Given the description of an element on the screen output the (x, y) to click on. 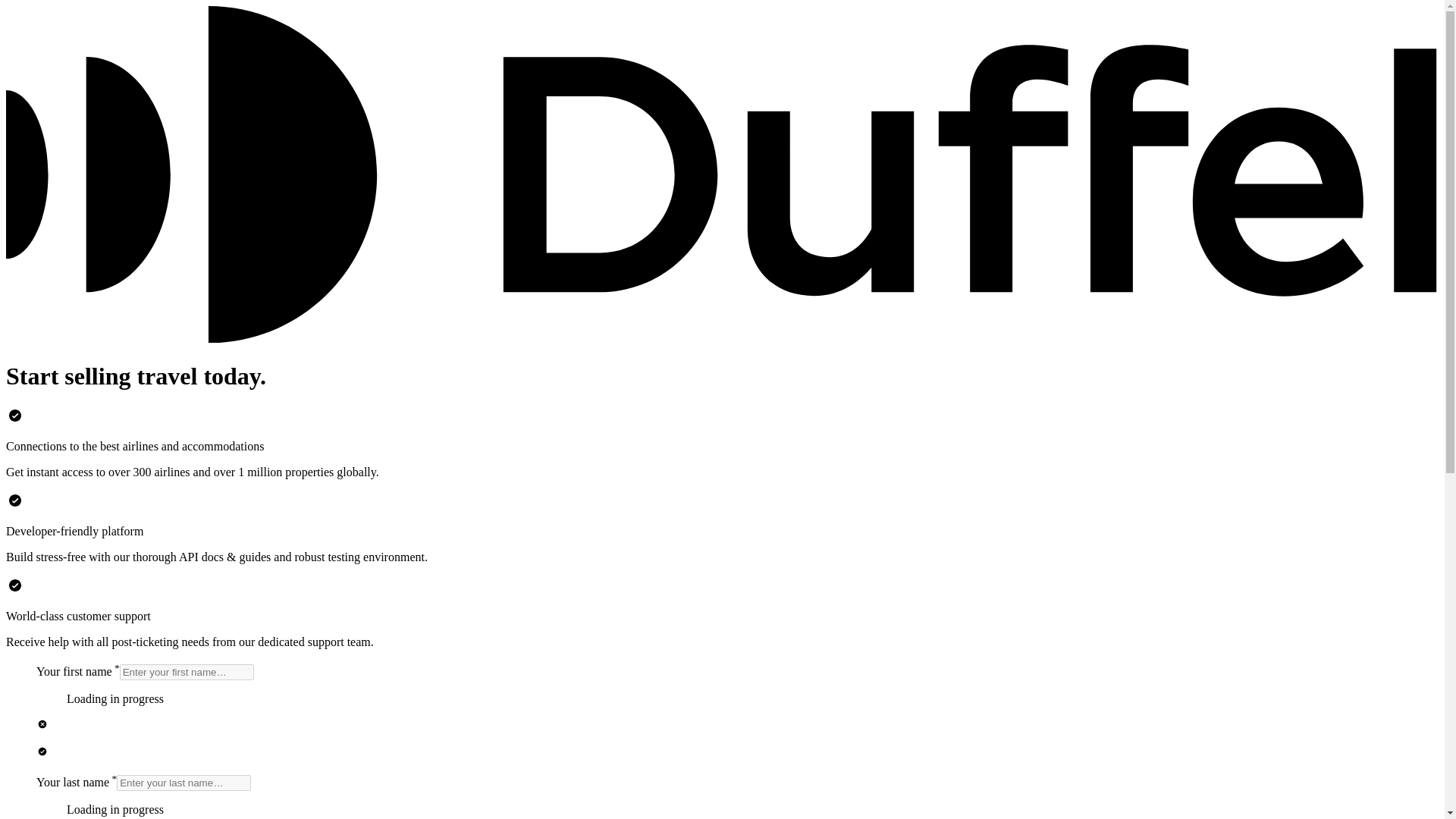
success icon (14, 500)
success icon (14, 585)
success icon (14, 415)
success icon (42, 751)
warning icon (42, 724)
